Given the description of an element on the screen output the (x, y) to click on. 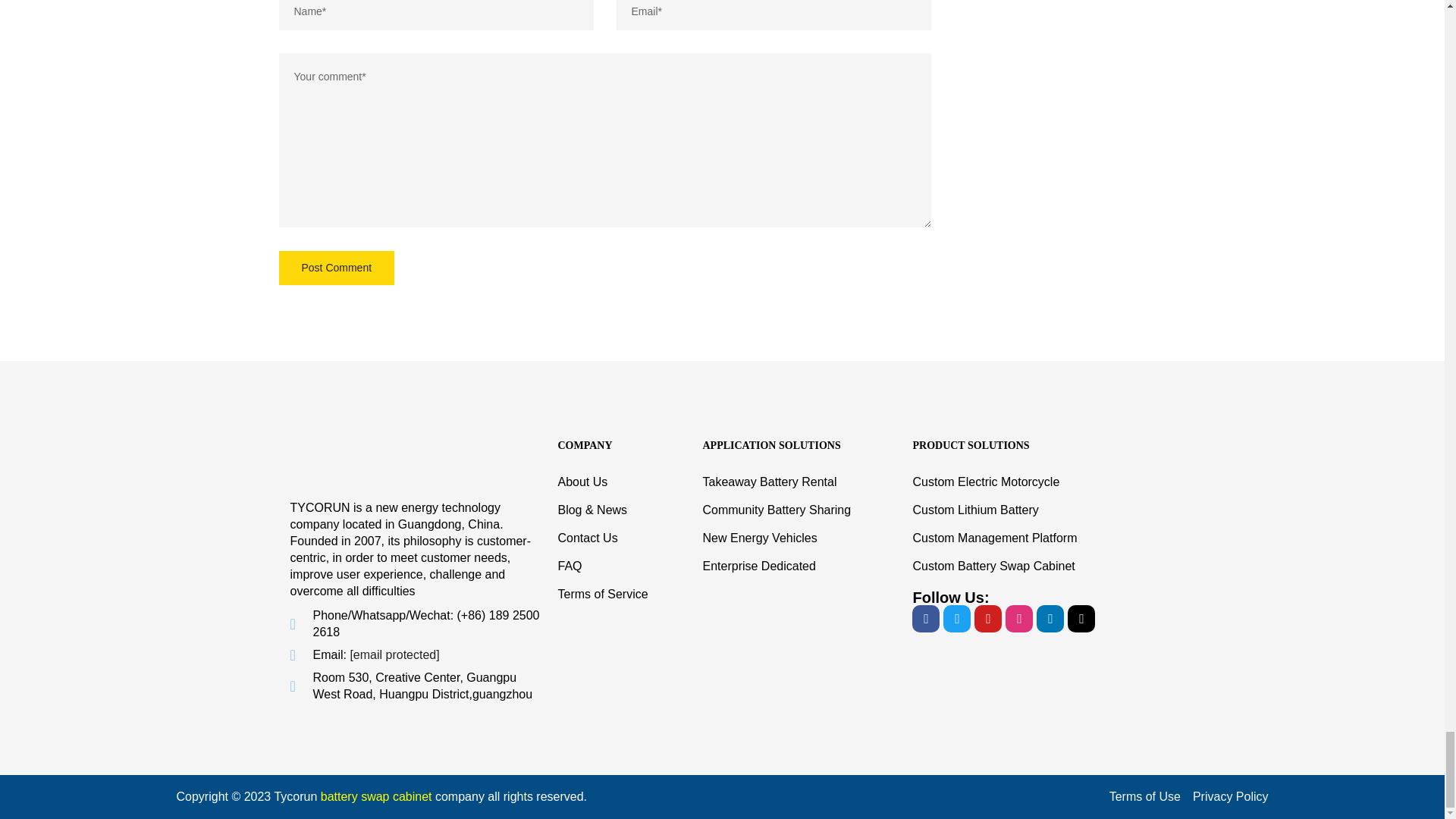
Post comment (336, 267)
